Given the description of an element on the screen output the (x, y) to click on. 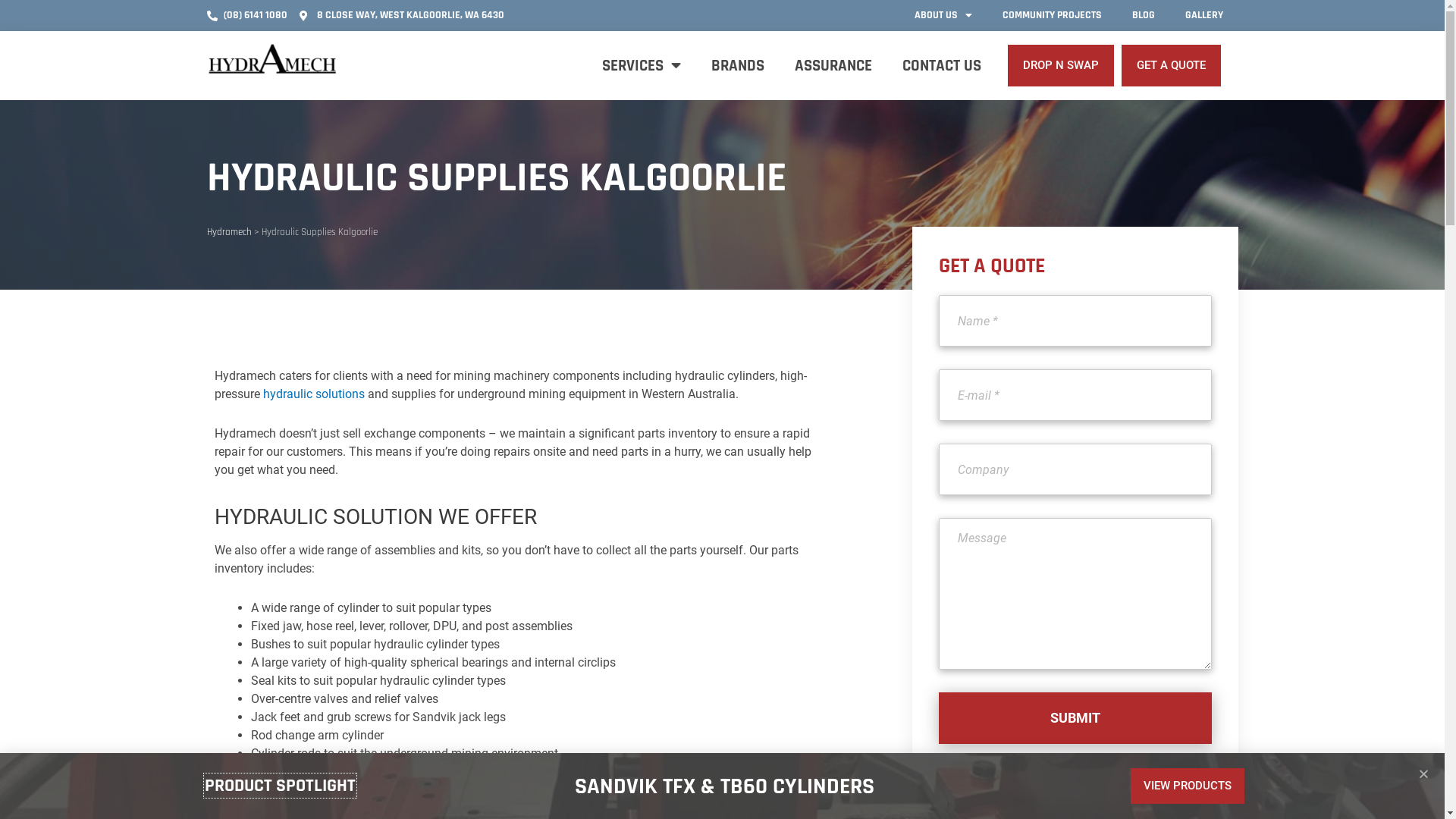
Submit Element type: text (1074, 717)
BLOG Element type: text (1142, 14)
Hydramech Element type: text (228, 231)
PRODUCT SPOTLIGHT Element type: text (279, 785)
VIEW PRODUCTS Element type: text (1187, 785)
COMMUNITY PROJECTS Element type: text (1052, 14)
hydraulic solutions Element type: text (313, 393)
(08) 6141 1080 Element type: text (246, 15)
GET A QUOTE Element type: text (1170, 65)
GALLERY Element type: text (1203, 14)
DROP N SWAP Element type: text (1060, 65)
SERVICES Element type: text (641, 65)
BRANDS Element type: text (737, 65)
CONTACT US Element type: text (941, 65)
8 CLOSE WAY, WEST KALGOORLIE, WA 6430 Element type: text (401, 15)
our repairs Element type: text (384, 807)
SANDVIK TFX & TB60 CYLINDERS Element type: text (724, 785)
ABOUT US Element type: text (943, 14)
ASSURANCE Element type: text (832, 65)
